Given the description of an element on the screen output the (x, y) to click on. 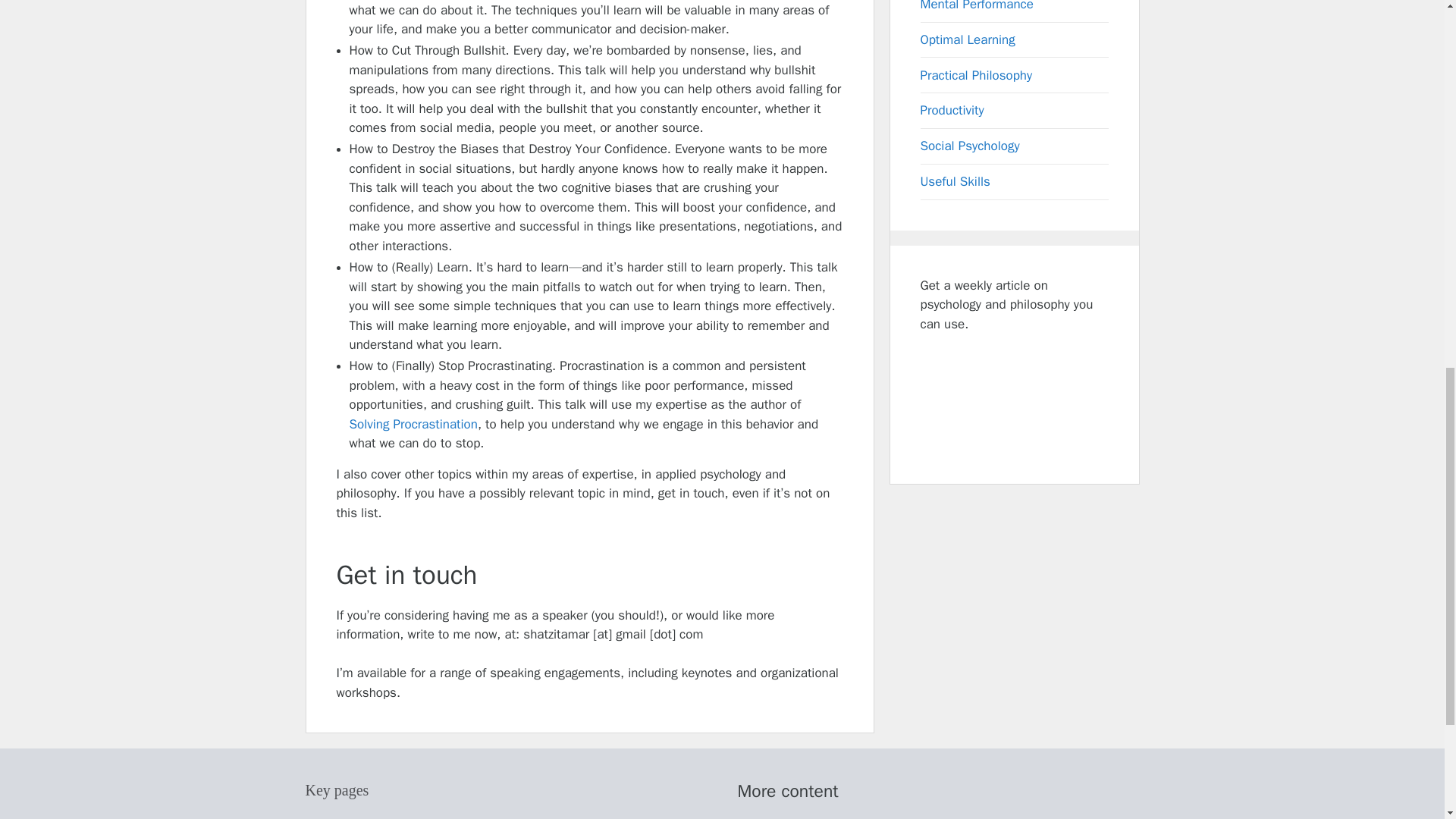
Optimal Learning (967, 39)
Mental Performance (976, 6)
Practical Philosophy (976, 75)
Useful Skills (955, 181)
Social Psychology (970, 145)
Solving Procrastination (413, 424)
Productivity (952, 109)
